Given the description of an element on the screen output the (x, y) to click on. 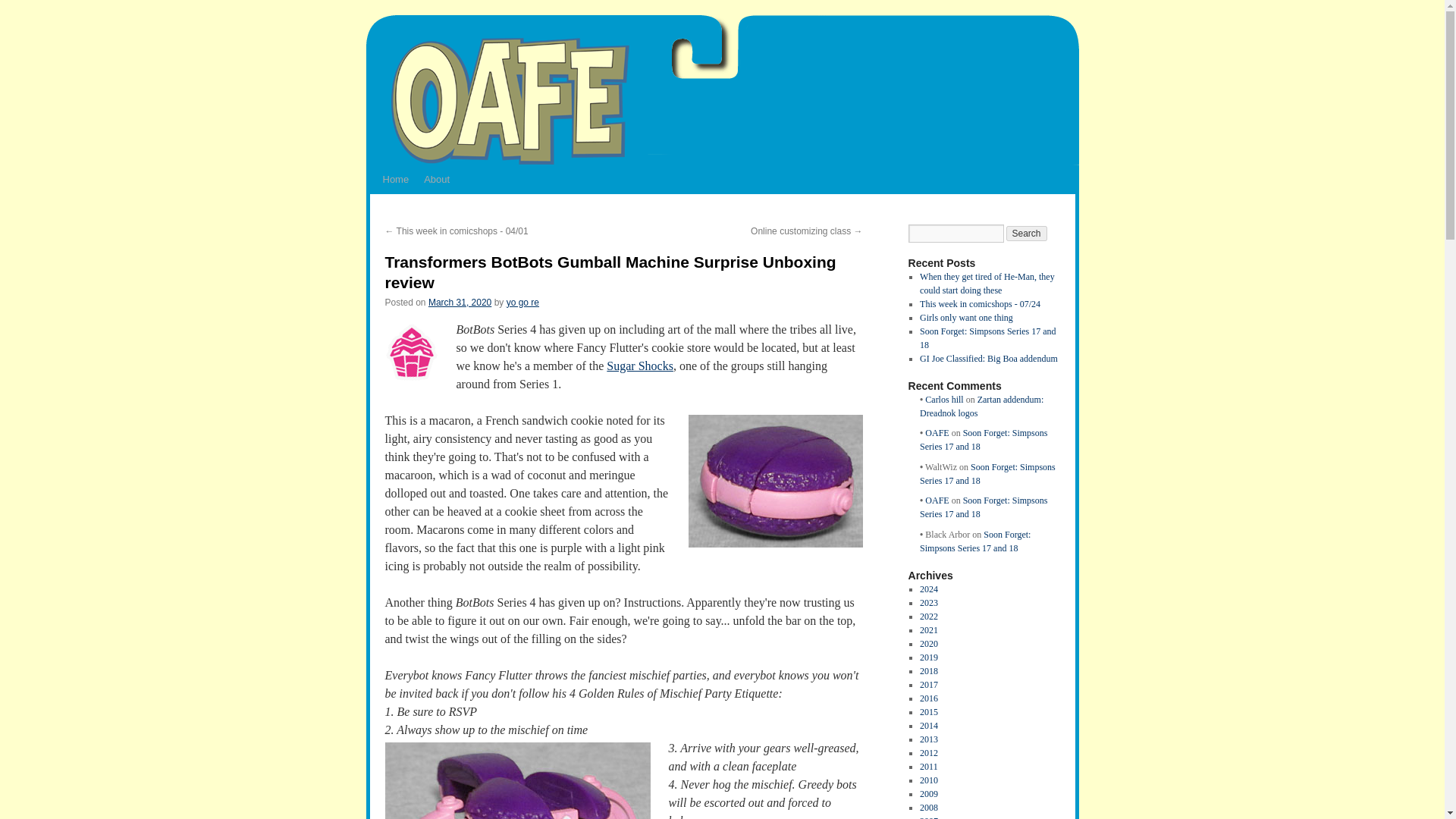
Sugar Shocks (411, 351)
March 31, 2020 (460, 302)
Role: fancy macaron (775, 480)
Sugar Shocks (639, 365)
Search (1026, 233)
View all posts by yo go re (522, 302)
yo go re (522, 302)
12:00 am (460, 302)
About (436, 179)
Skip to content (372, 207)
Home (395, 179)
Year 2024 archives (928, 588)
